Given the description of an element on the screen output the (x, y) to click on. 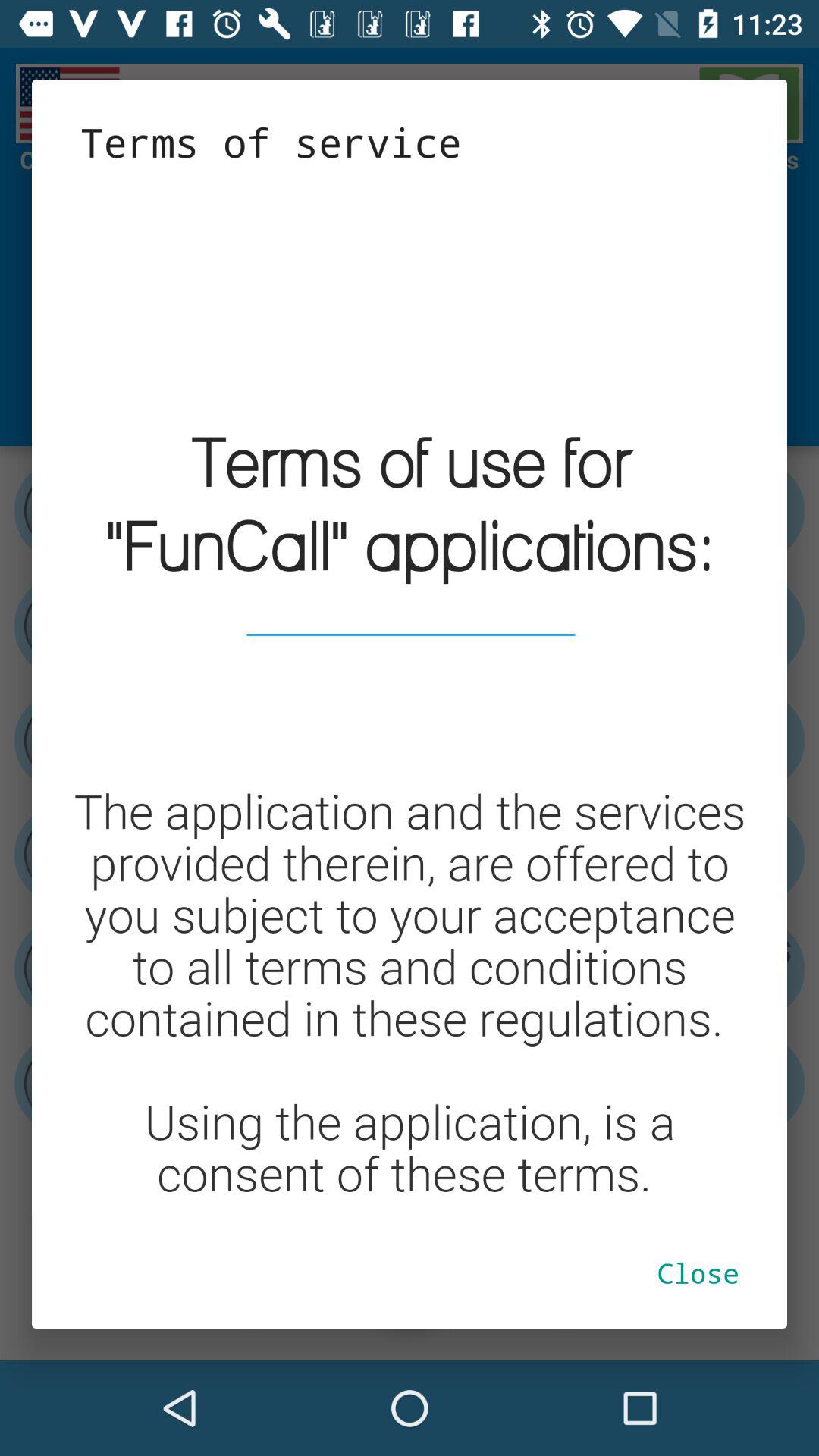
click close (698, 1272)
